Given the description of an element on the screen output the (x, y) to click on. 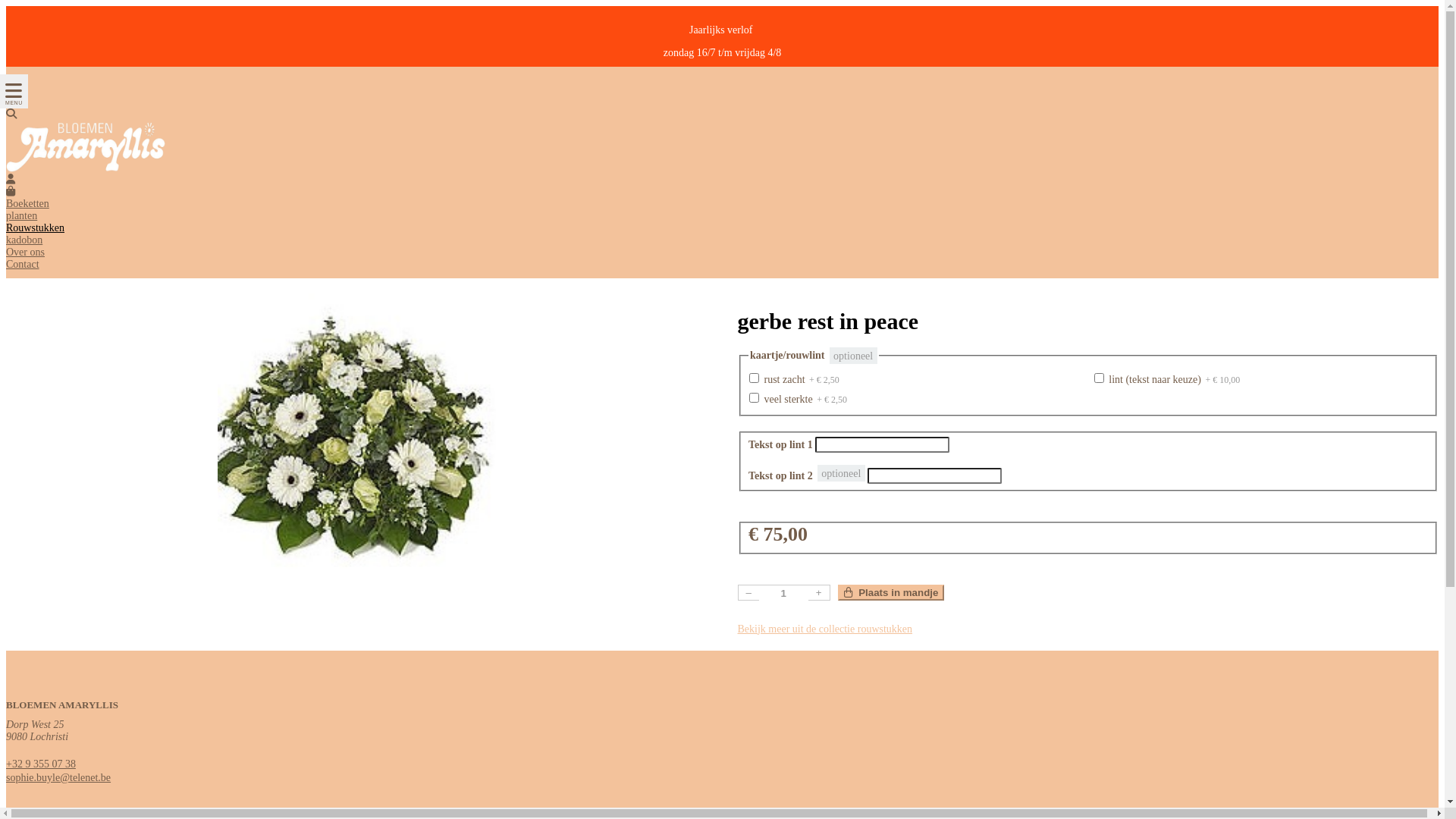
gerbe rest in peace Element type: hover (355, 437)
Boeketten Element type: text (27, 203)
Contact Element type: text (22, 263)
sophie.buyle@telenet.be Element type: text (58, 777)
+32 9 355 07 38 Element type: text (40, 763)
Plaats in mandje Element type: text (890, 592)
Over ons Element type: text (25, 251)
Rouwstukken Element type: text (35, 227)
+ Element type: text (818, 592)
planten Element type: text (21, 215)
Bekijk meer uit de collectie rouwstukken Element type: text (824, 628)
kadobon Element type: text (24, 239)
